Given the description of an element on the screen output the (x, y) to click on. 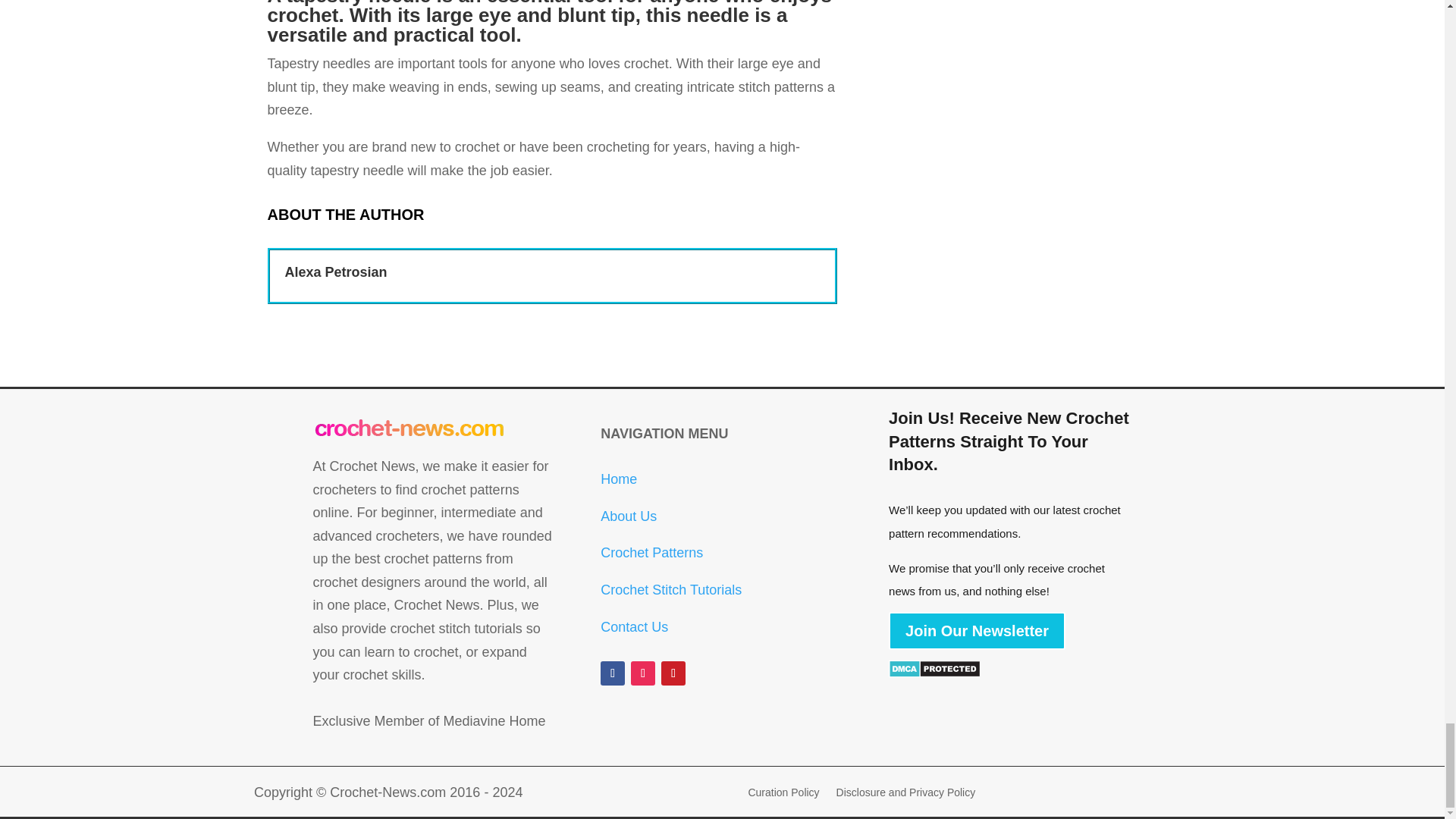
crochet-news (409, 429)
Follow on Instagram (642, 672)
Follow on Facebook (611, 672)
